Given the description of an element on the screen output the (x, y) to click on. 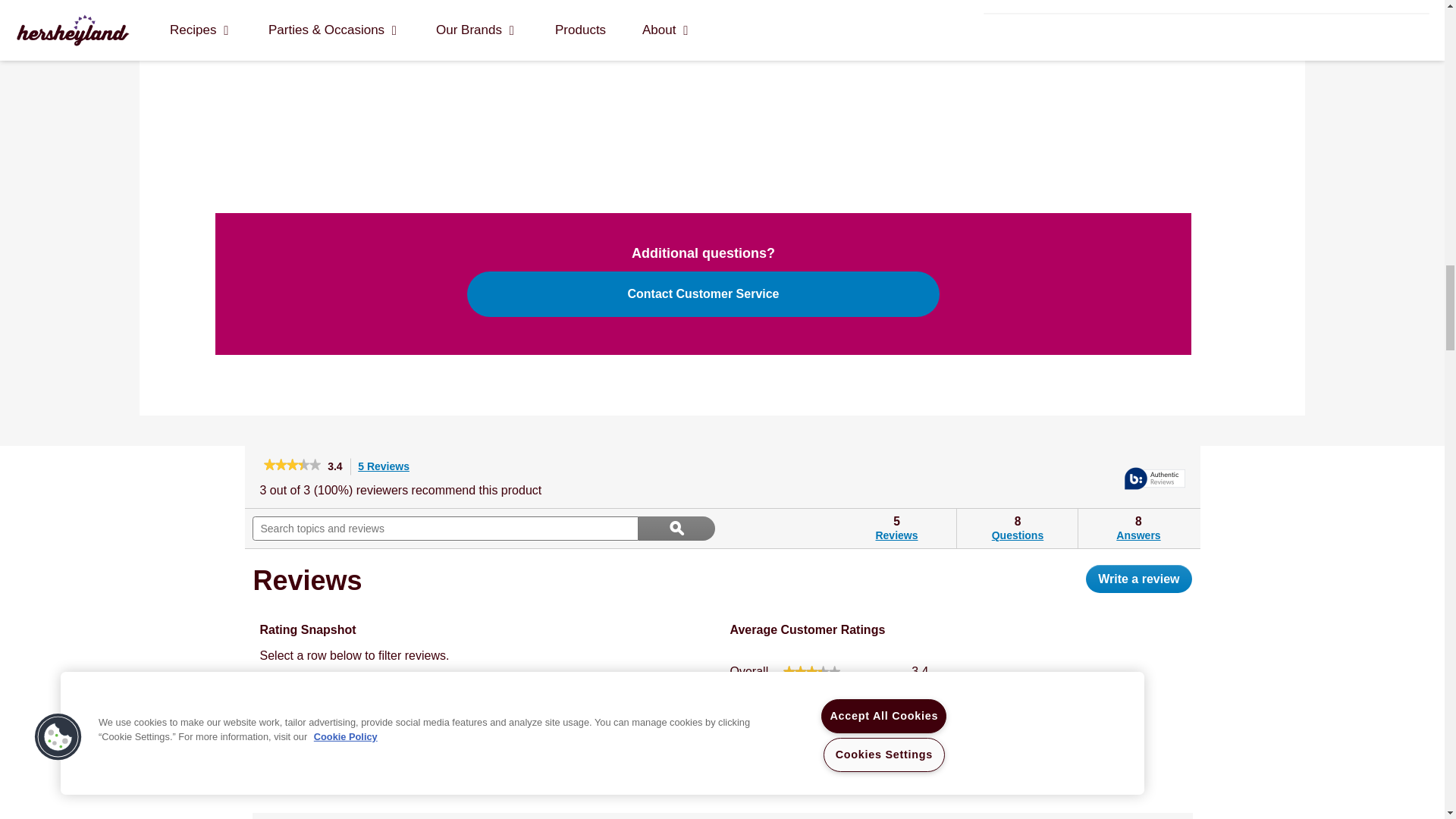
Read 5 Reviews (291, 466)
